Given the description of an element on the screen output the (x, y) to click on. 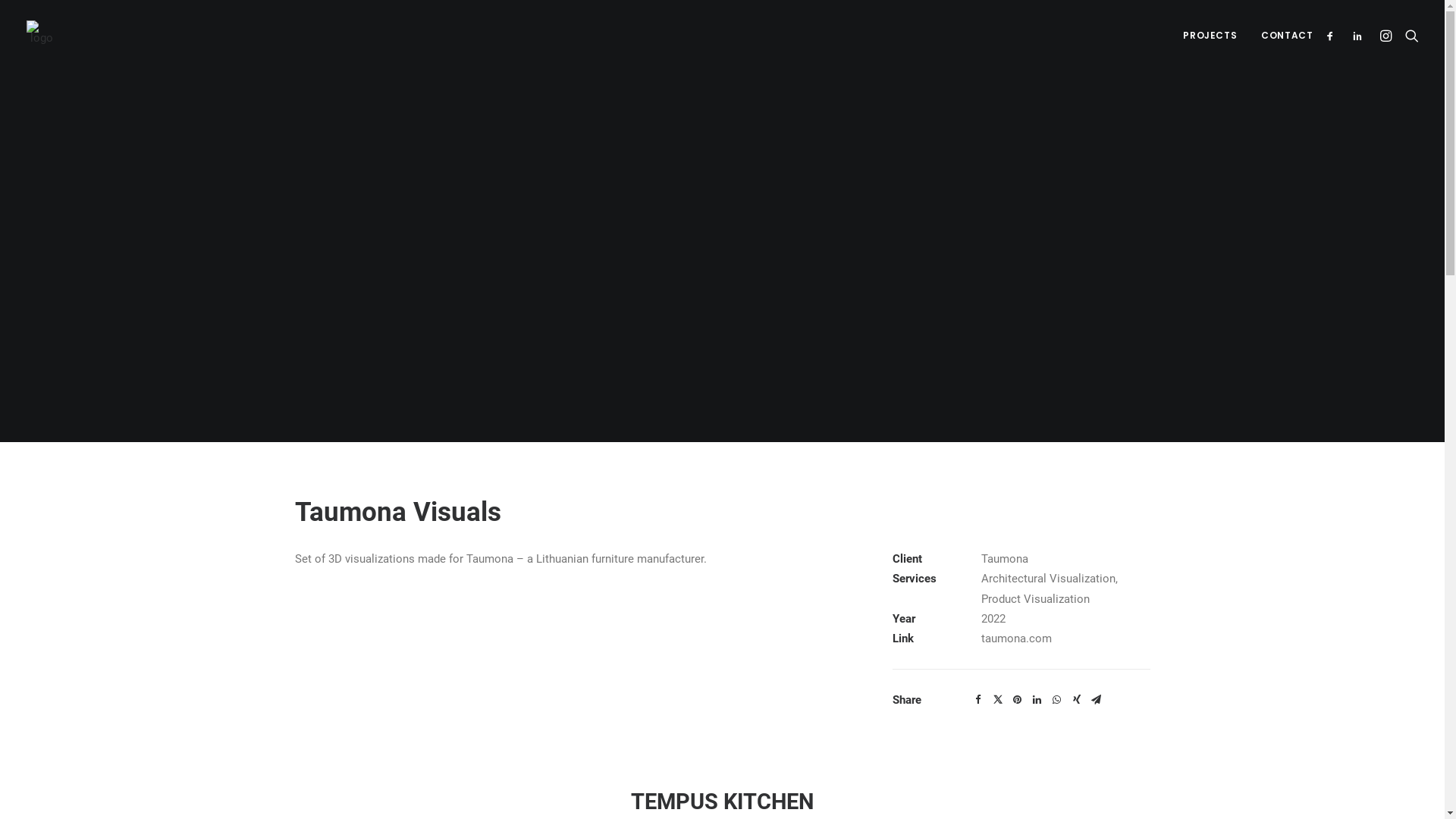
CONTACT Element type: text (1281, 35)
PROJECTS Element type: text (1209, 35)
taumona.com Element type: text (1016, 638)
